Given the description of an element on the screen output the (x, y) to click on. 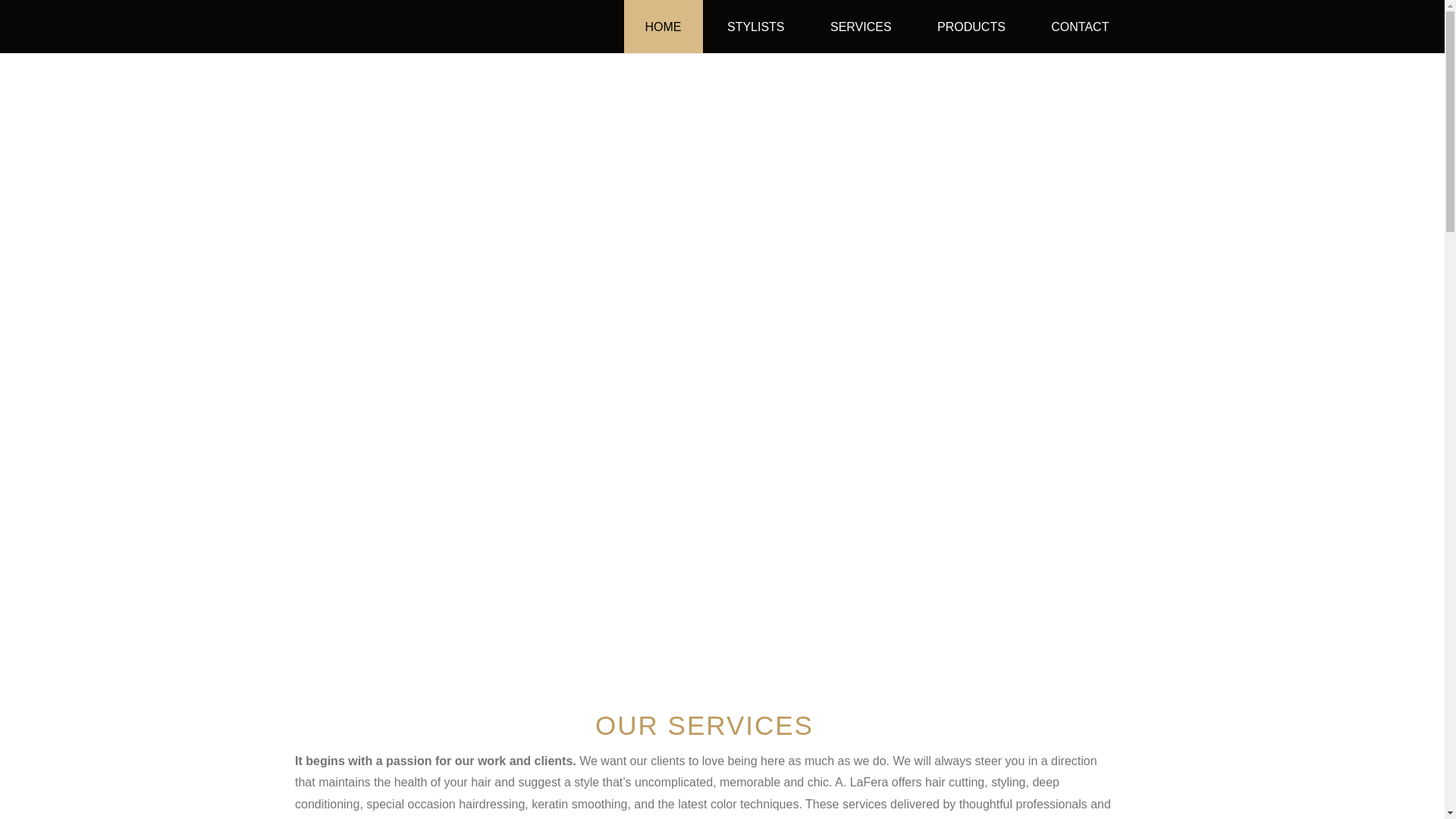
CONTACT (1079, 39)
STYLISTS (755, 39)
PRODUCTS (971, 39)
SERVICES (860, 39)
